Given the description of an element on the screen output the (x, y) to click on. 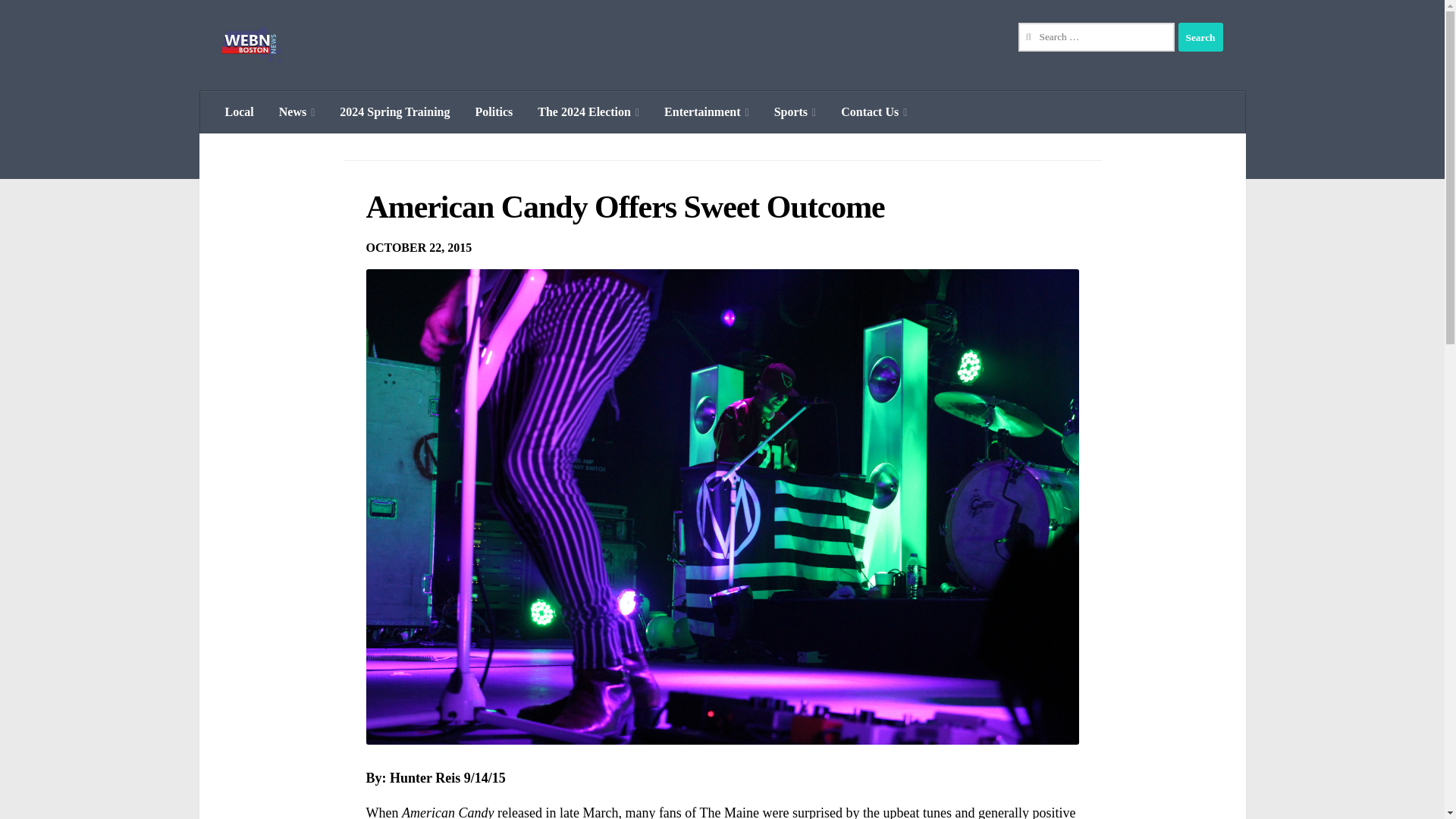
The 2024 Election (588, 112)
Skip to content (59, 20)
2024 Spring Training (394, 112)
Search (1200, 36)
Politics (494, 112)
Search (1200, 36)
News (296, 112)
Search (1200, 36)
Local (238, 112)
